Given the description of an element on the screen output the (x, y) to click on. 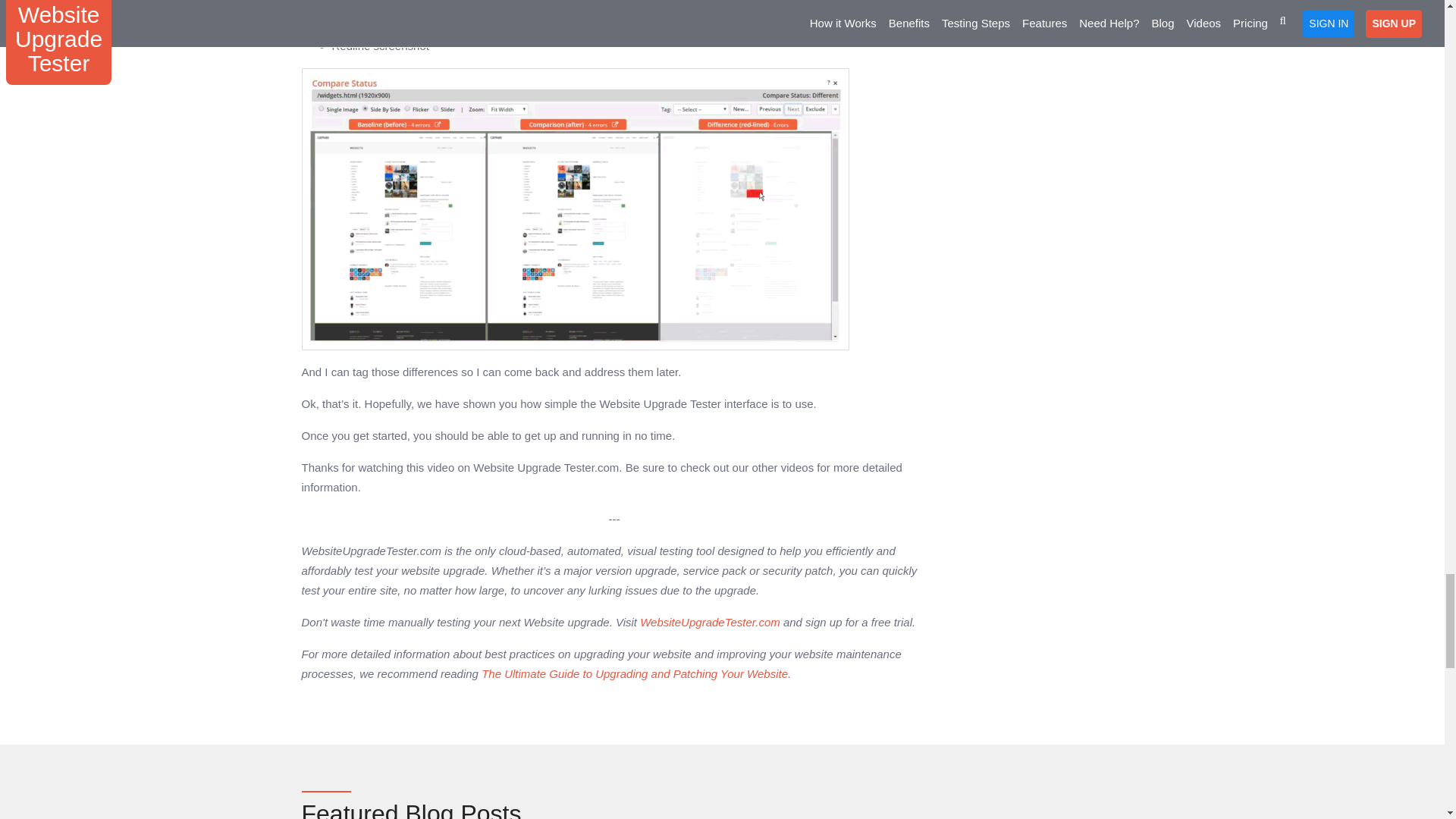
WebsiteUpgradeTester.com (710, 621)
The Ultimate Guide to Upgrading and Patching Your Website. (635, 673)
